Given the description of an element on the screen output the (x, y) to click on. 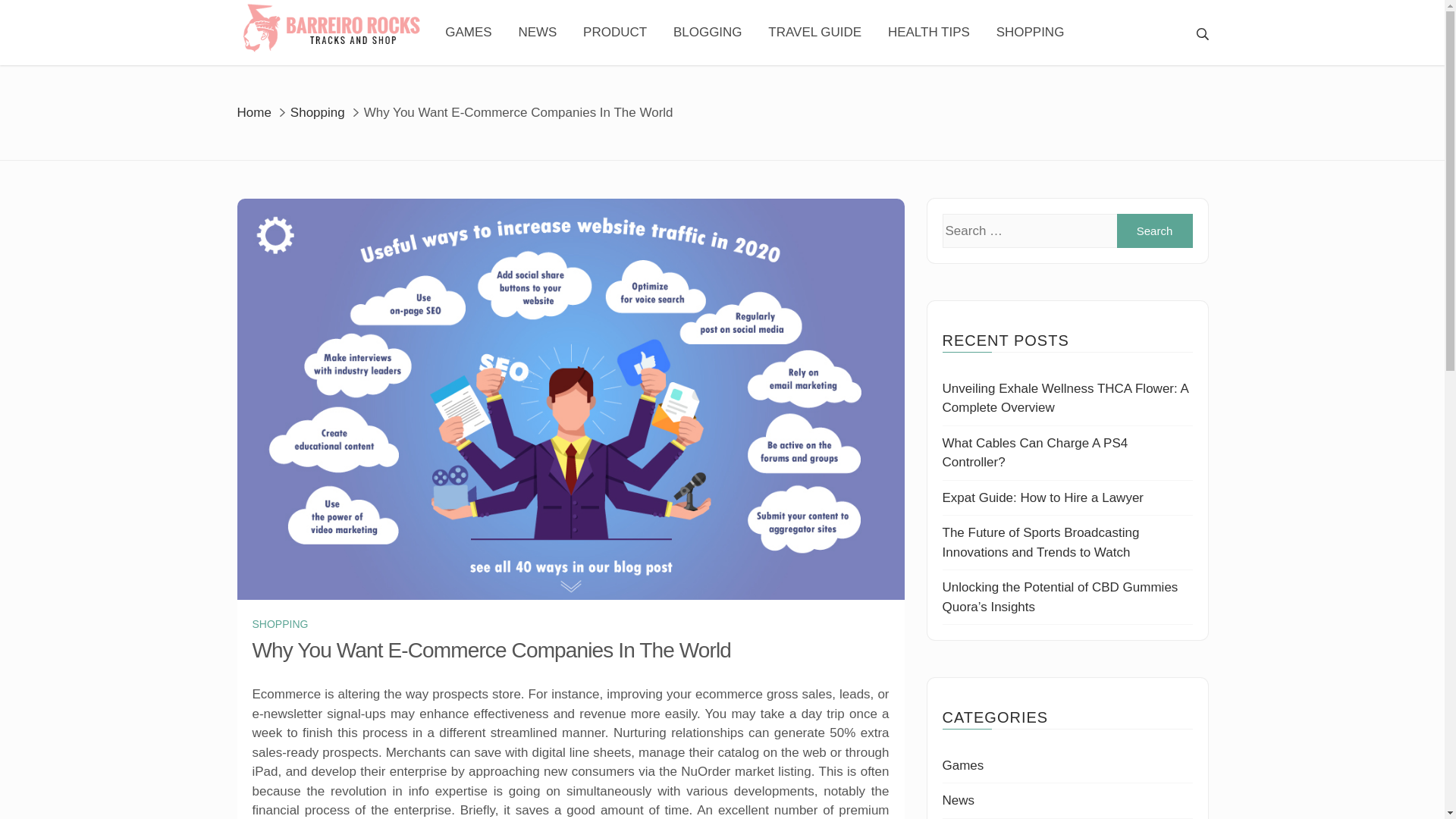
Search (1154, 230)
Expat Guide: How to Hire a Lawyer (1042, 497)
What Cables Can Charge A PS4 Controller? (1034, 452)
Search (1154, 230)
SHOPPING (279, 624)
SHOPPING (1029, 32)
TRAVEL GUIDE (814, 32)
GAMES (468, 32)
BLOGGING (707, 32)
Games (963, 765)
Search (1154, 230)
Unveiling Exhale Wellness THCA Flower: A Complete Overview (1065, 398)
News (958, 800)
Home (252, 111)
